Given the description of an element on the screen output the (x, y) to click on. 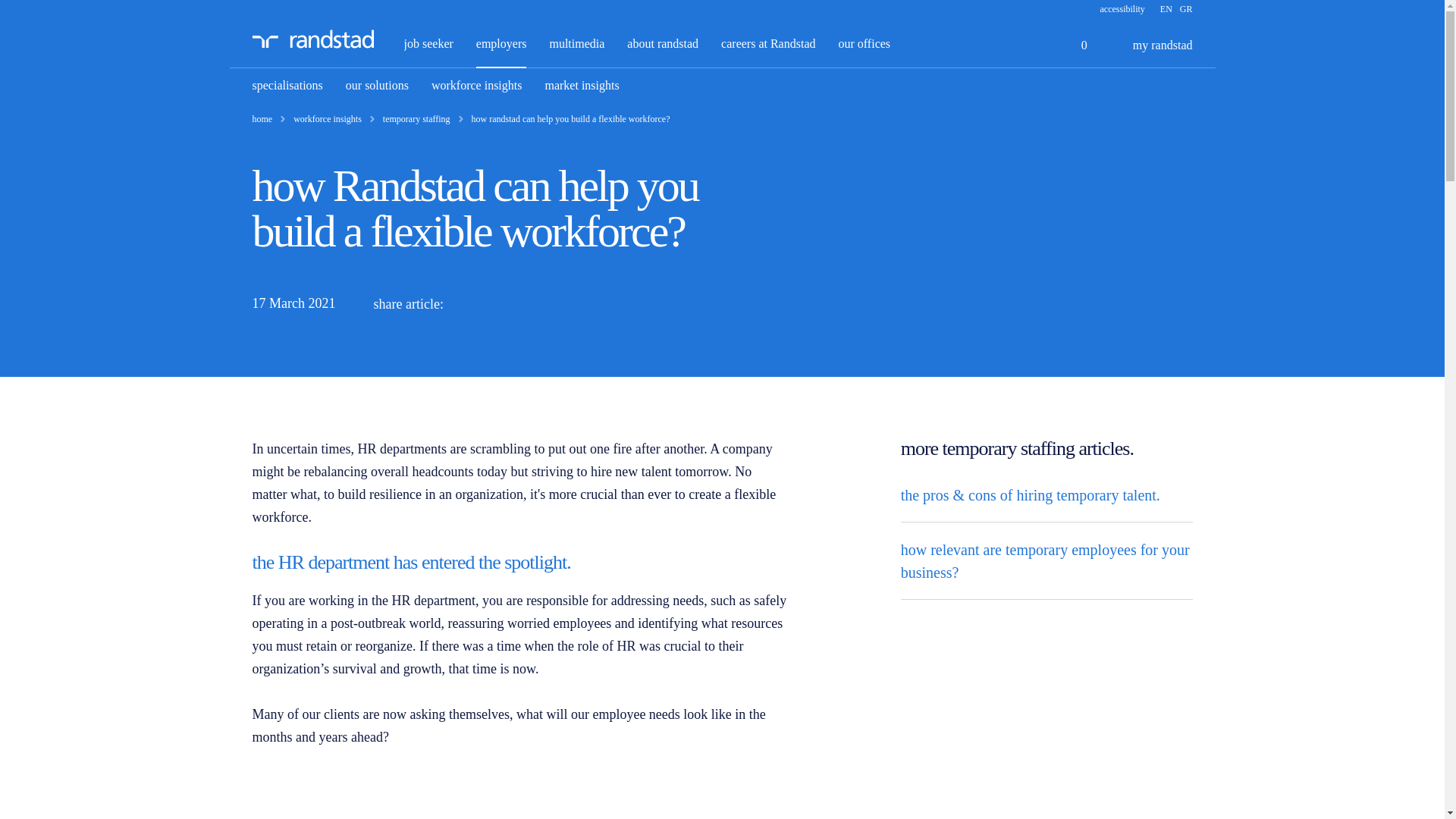
accessibility (1122, 9)
my randstad (1150, 44)
share this article on twitter (506, 303)
temporary staffing (415, 118)
share this article on facebook (541, 303)
our offices (863, 42)
home (261, 118)
employers (501, 42)
about randstad (662, 42)
share this article on linkedin (470, 303)
our solutions (377, 84)
careers at Randstad (767, 42)
specialisations (286, 84)
market insights (581, 84)
randstad (311, 38)
